Given the description of an element on the screen output the (x, y) to click on. 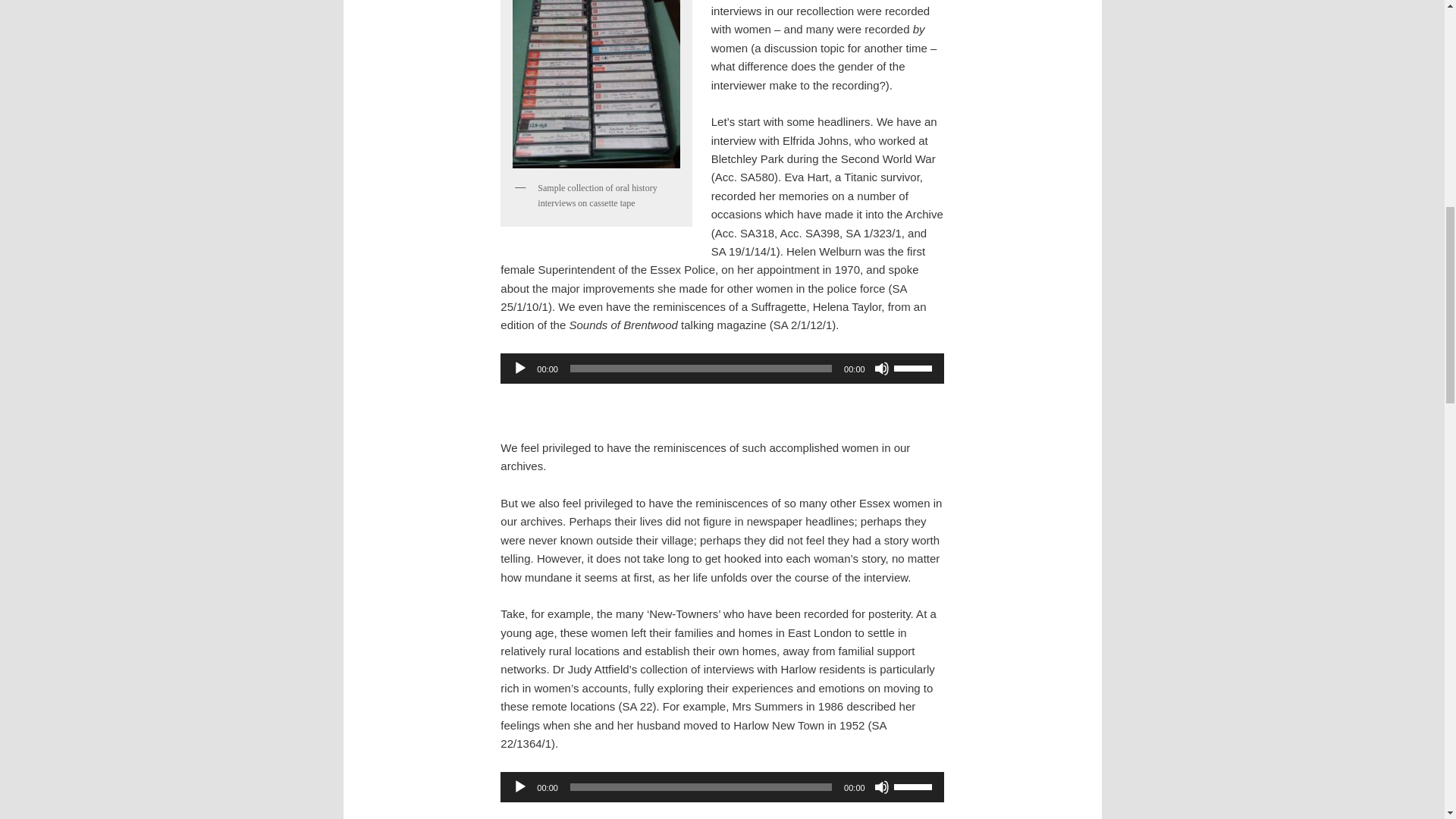
Mute (882, 368)
Mute (882, 786)
Play (519, 368)
Play (519, 786)
